Given the description of an element on the screen output the (x, y) to click on. 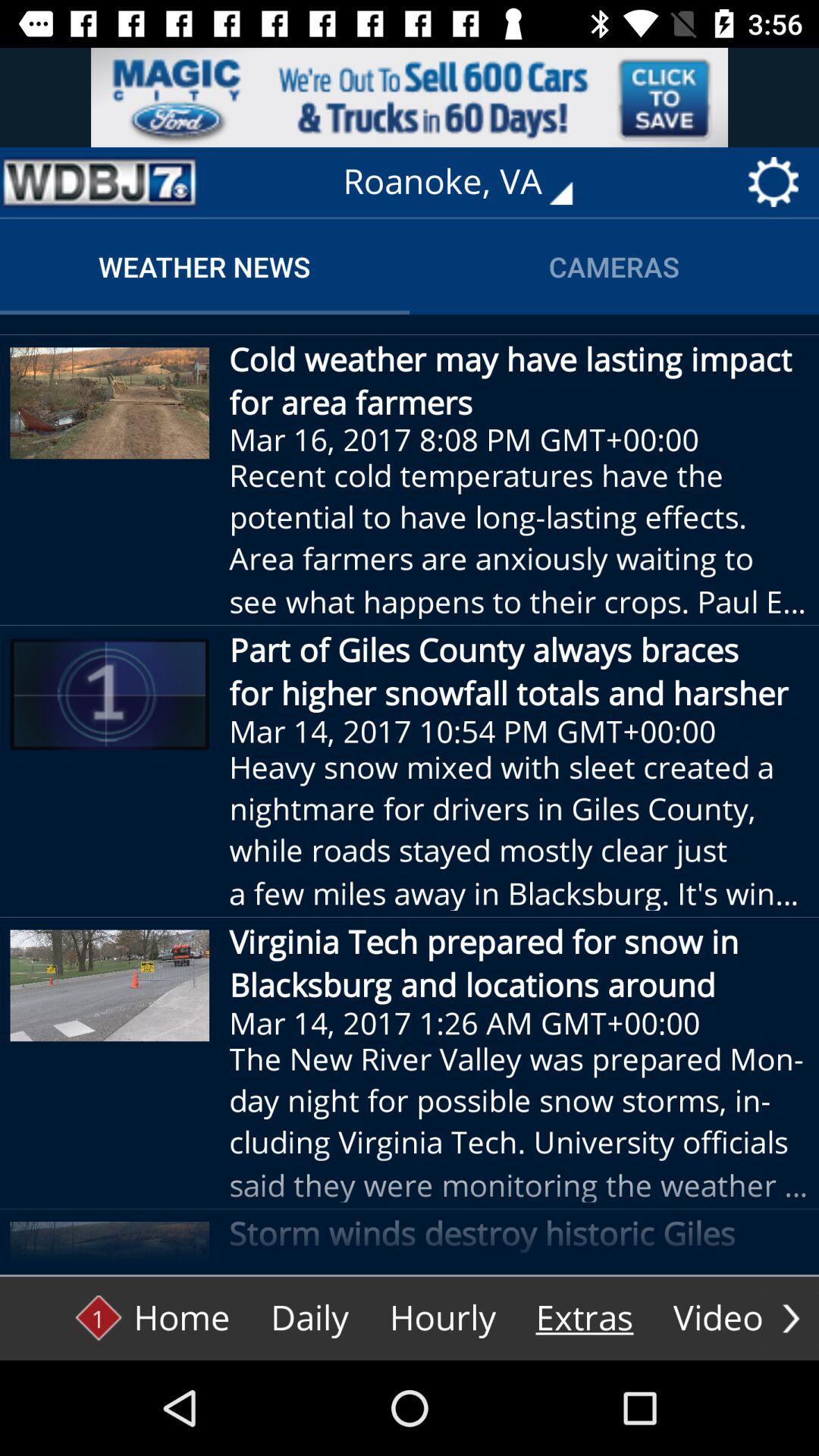
go to advertisement page (409, 97)
